Given the description of an element on the screen output the (x, y) to click on. 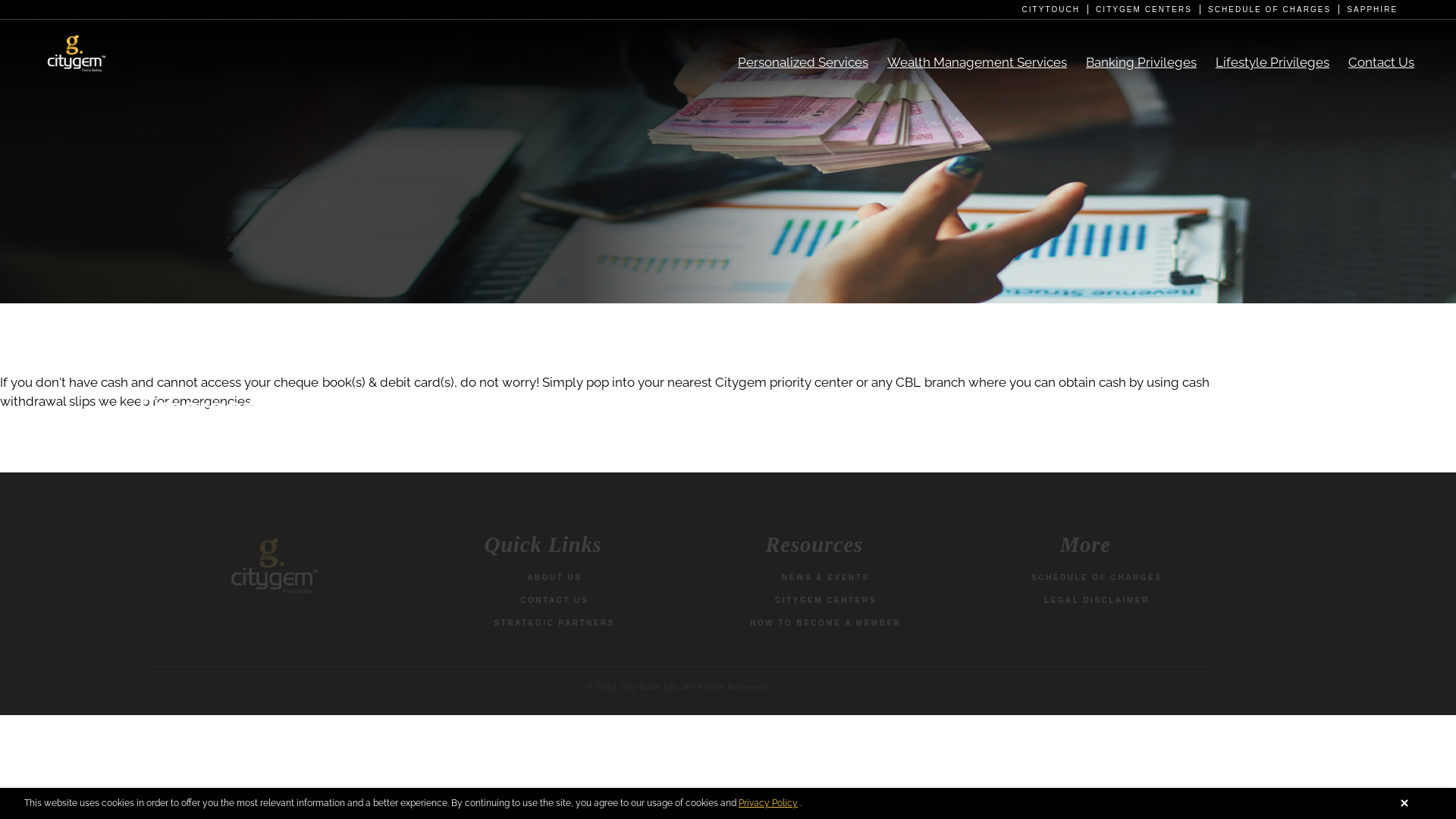
NEWS & EVENTS Element type: text (825, 577)
Lifestyle Privileges Element type: text (1281, 62)
CITYTOUCH Element type: text (1054, 9)
SCHEDULE OF CHARGES Element type: text (1096, 577)
CITYGEM CENTERS Element type: text (1147, 9)
Personalized Services Element type: text (812, 62)
ABOUT US Element type: text (554, 577)
Banking Privileges Element type: text (1150, 62)
SAPPHIRE Element type: text (1371, 9)
Wealth Management Services Element type: text (986, 62)
Privacy Policy Element type: text (767, 802)
Contact Us Element type: text (1390, 62)
CONTACT US Element type: text (554, 600)
SCHEDULE OF CHARGES Element type: text (1273, 9)
LEGAL DISCLAIMER Element type: text (1096, 600)
CITYGEM CENTERS Element type: text (825, 600)
STRATEGIC PARTNERS Element type: text (554, 622)
HOW TO BECOME A MEMBER Element type: text (824, 622)
